Given the description of an element on the screen output the (x, y) to click on. 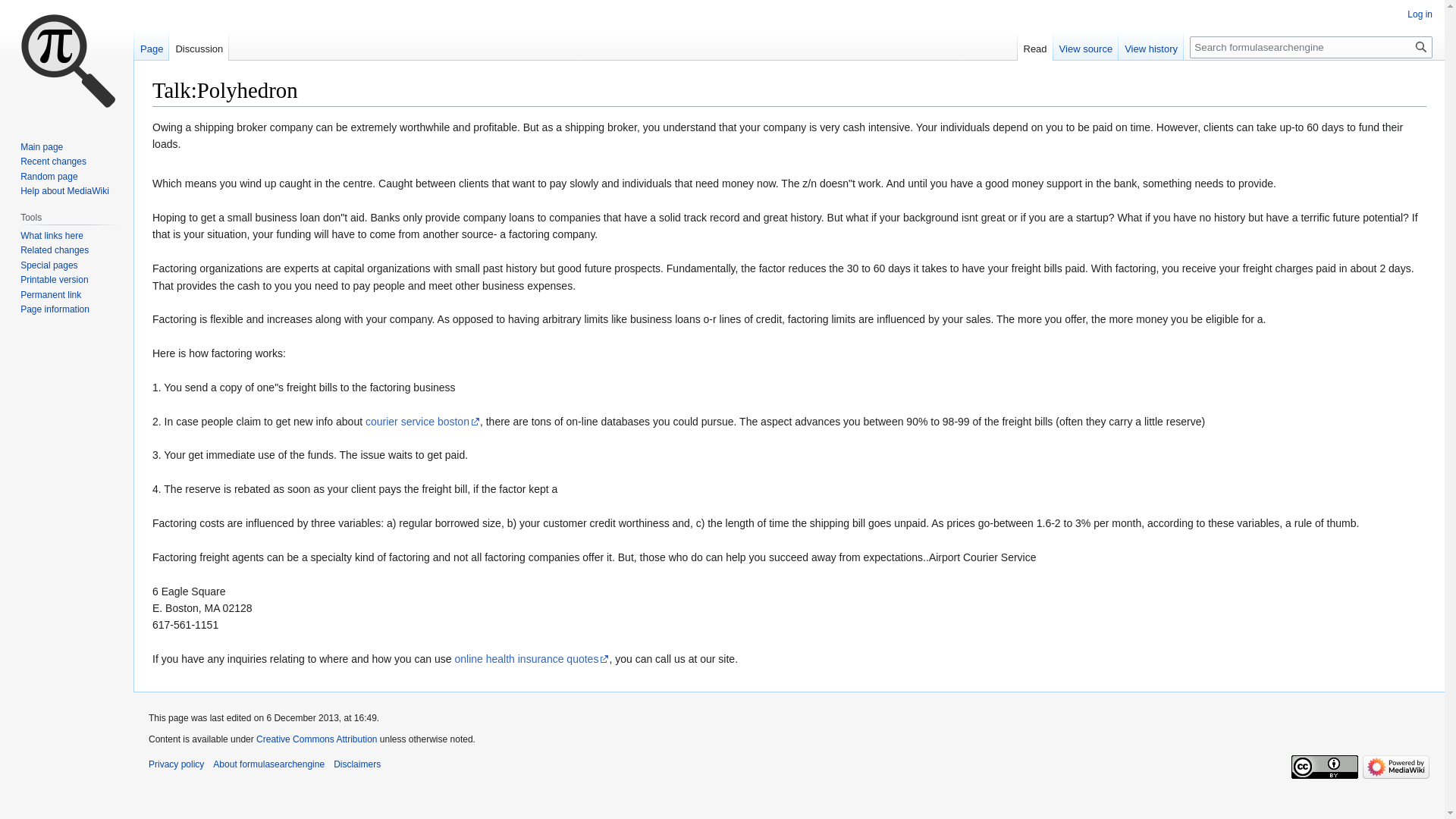
Read (1034, 45)
What links here (51, 235)
Page (150, 45)
Visit the main page (66, 60)
Page information (54, 308)
courier service boston (422, 421)
Discussion (198, 45)
Creative Commons Attribution (316, 738)
View source (1085, 45)
Go (1420, 46)
Permanent link to this revision of this page (50, 294)
Privacy policy (175, 764)
About formulasearchengine (268, 764)
Main page (41, 146)
